Given the description of an element on the screen output the (x, y) to click on. 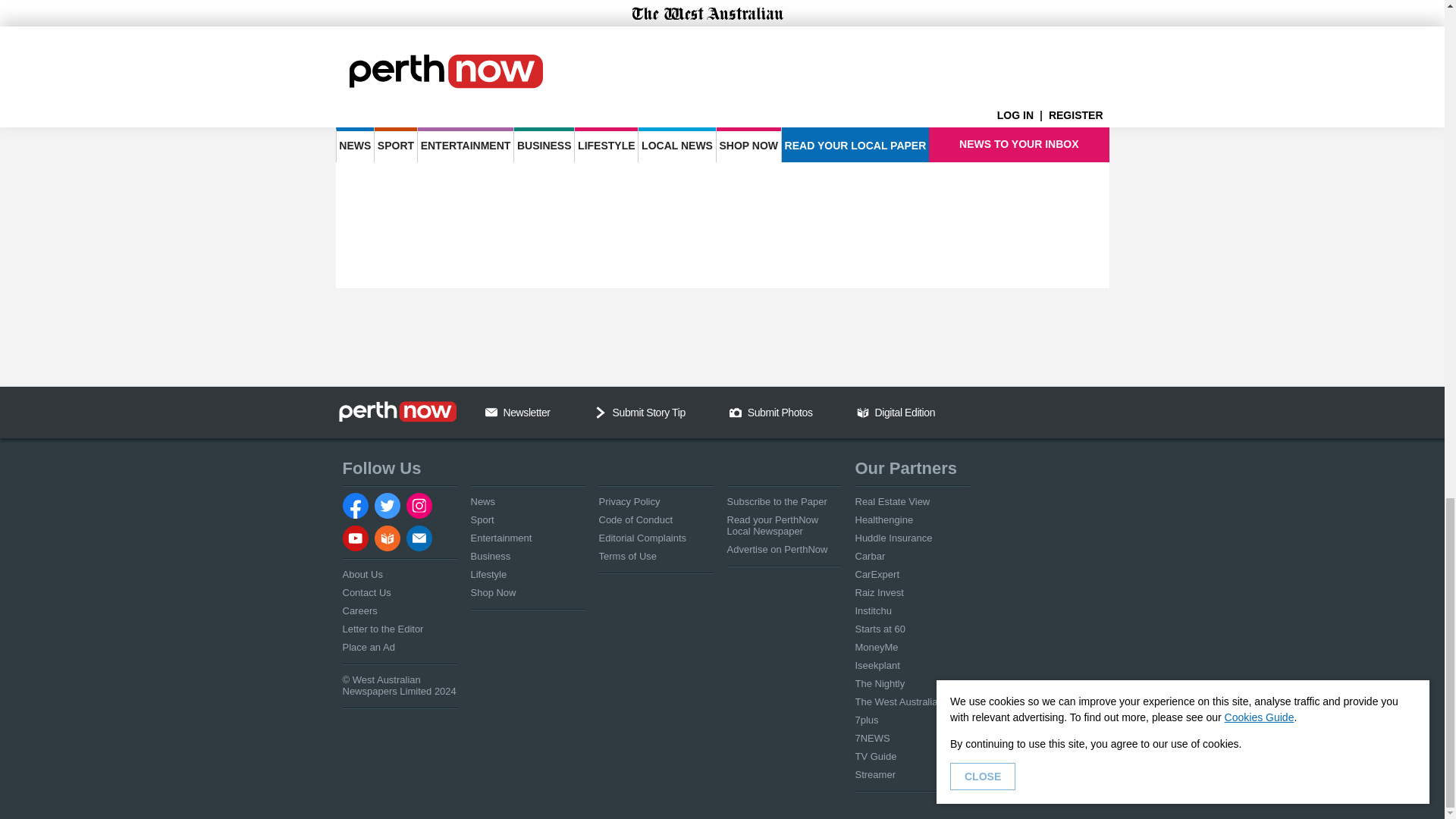
Email Us (490, 412)
